Given the description of an element on the screen output the (x, y) to click on. 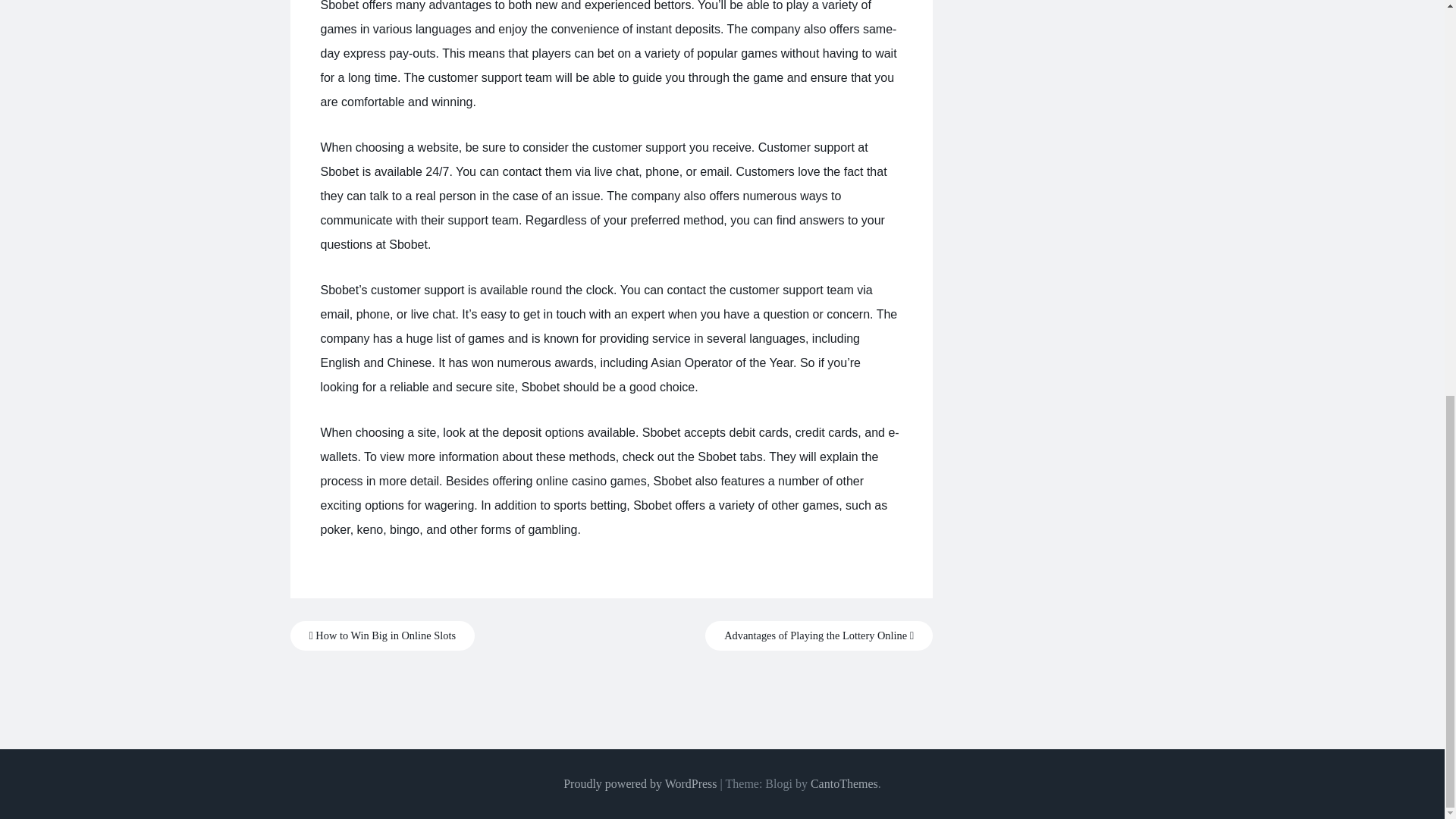
Advantages of Playing the Lottery Online (818, 635)
How to Win Big in Online Slots (381, 635)
CantoThemes (843, 783)
Proudly powered by WordPress (639, 783)
